Given the description of an element on the screen output the (x, y) to click on. 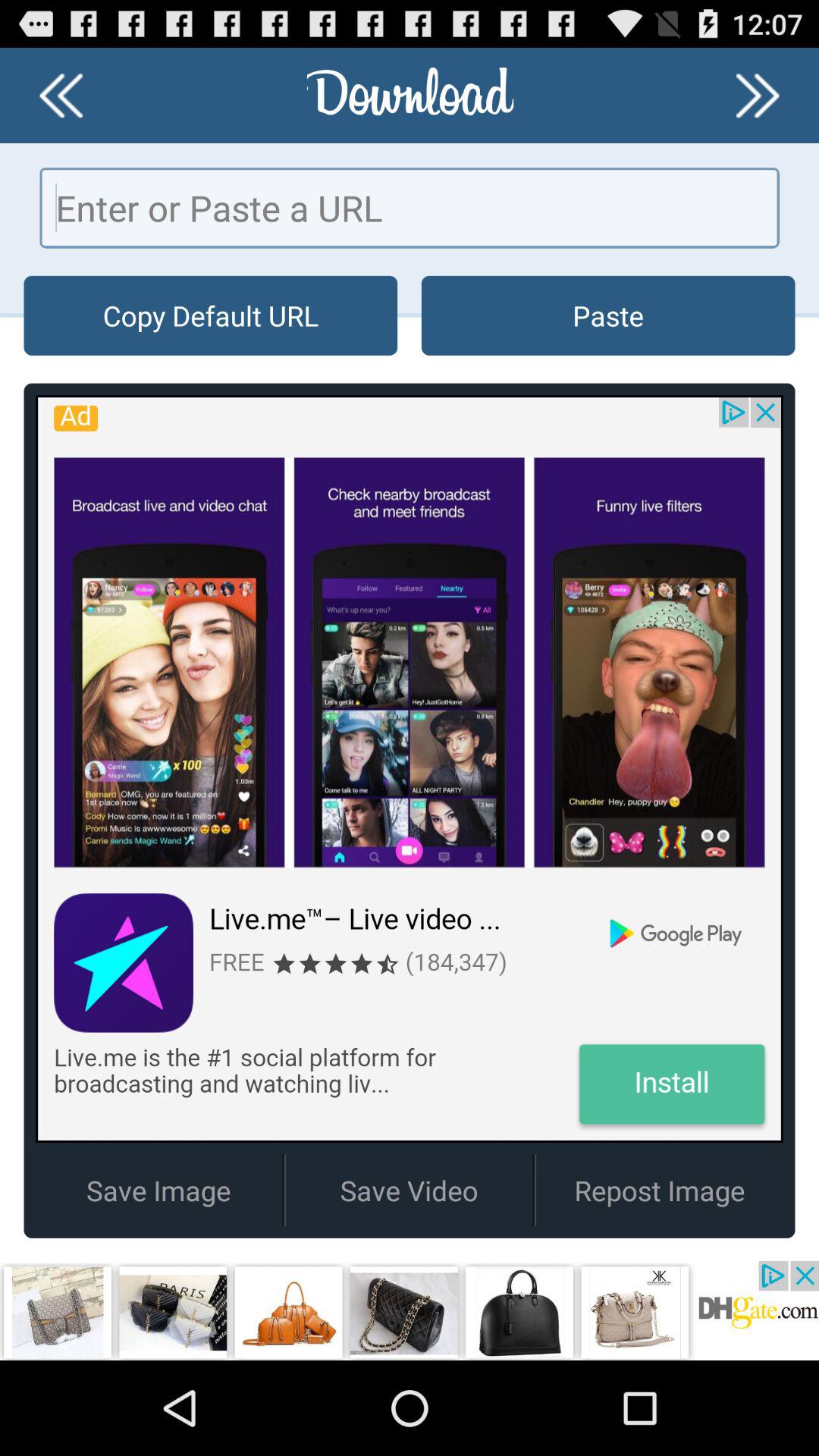
advertisement (409, 1310)
